Given the description of an element on the screen output the (x, y) to click on. 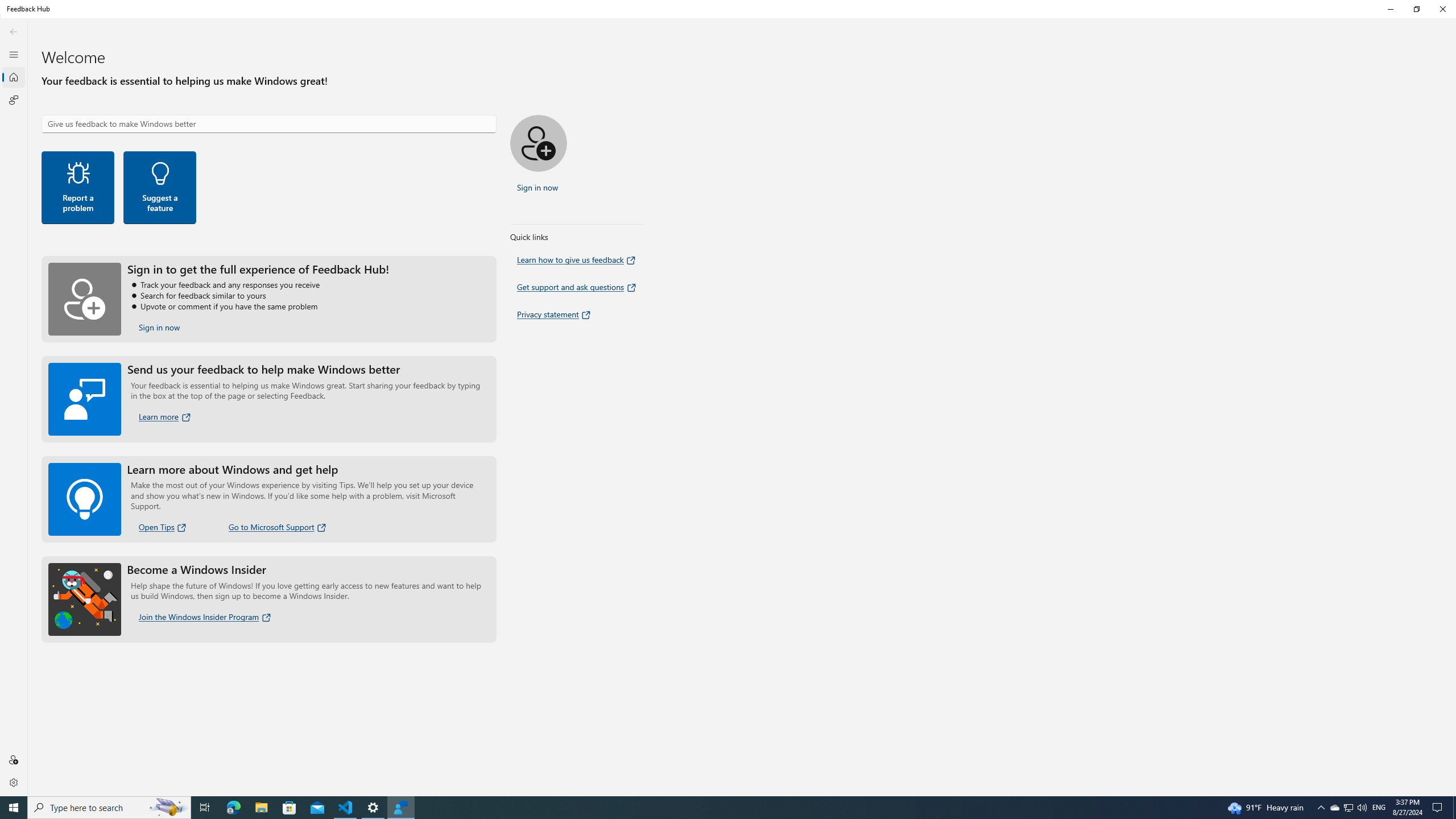
Suggest a feature (1333, 807)
Tray Input Indicator - English (United States) (159, 187)
Search highlights icon opens search home window (1378, 807)
Microsoft Edge (167, 807)
Q2790: 100% (233, 807)
Visual Studio Code - 1 running window (1361, 807)
Microsoft Store (345, 807)
Learn more about providing feedback. (289, 807)
Back (165, 416)
Close Feedback Hub (13, 31)
Type here to search (1442, 9)
Restore Feedback Hub (1347, 807)
